Given the description of an element on the screen output the (x, y) to click on. 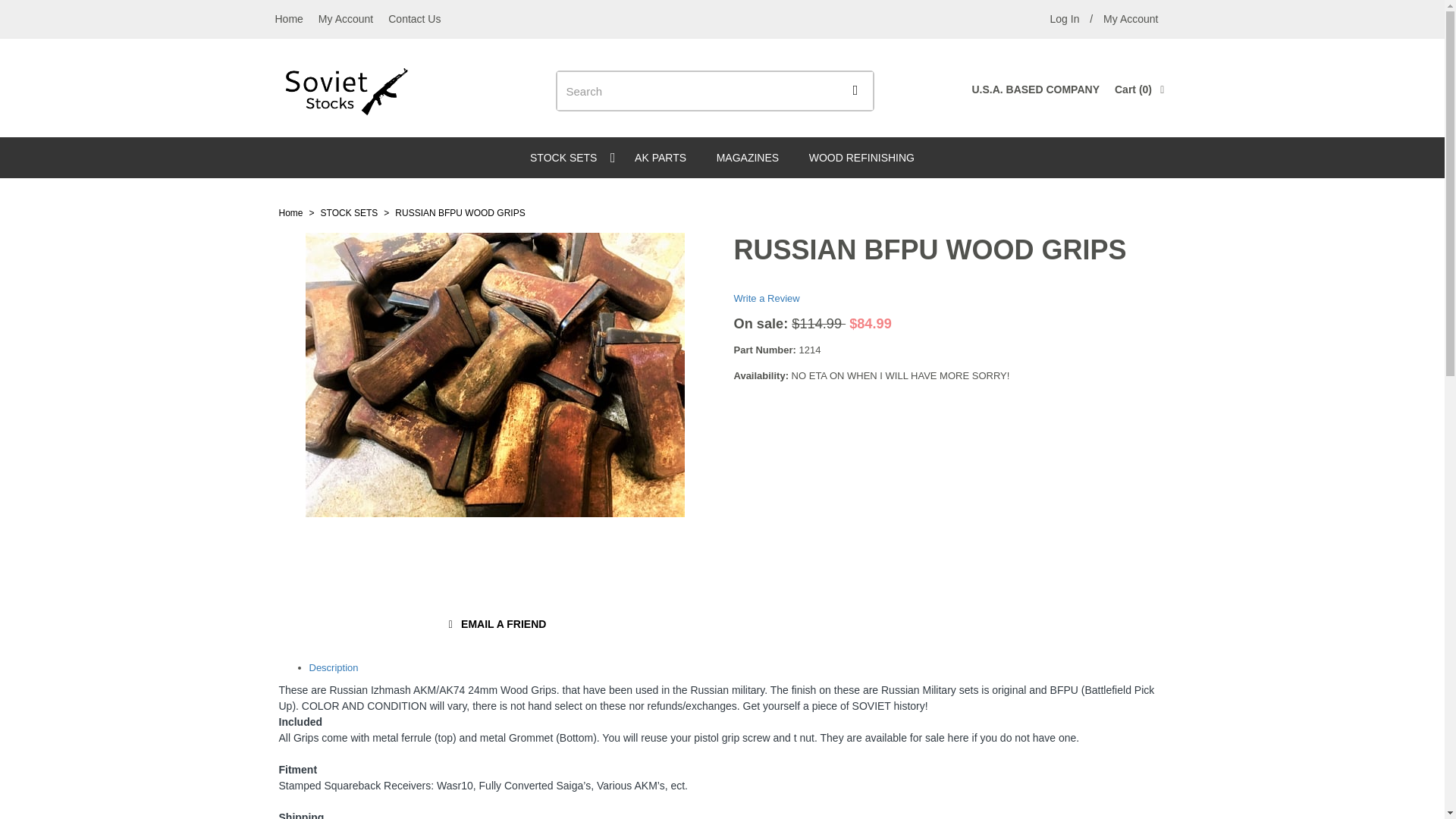
STOCK SETS (566, 157)
Write a Review (766, 297)
AK PARTS (660, 157)
Home (288, 18)
RUSSIAN BFPU WOOD GRIPS (1131, 18)
My Account (459, 213)
WOOD REFINISHING (345, 18)
Contact Us (861, 157)
STOCK SETS (414, 18)
